Given the description of an element on the screen output the (x, y) to click on. 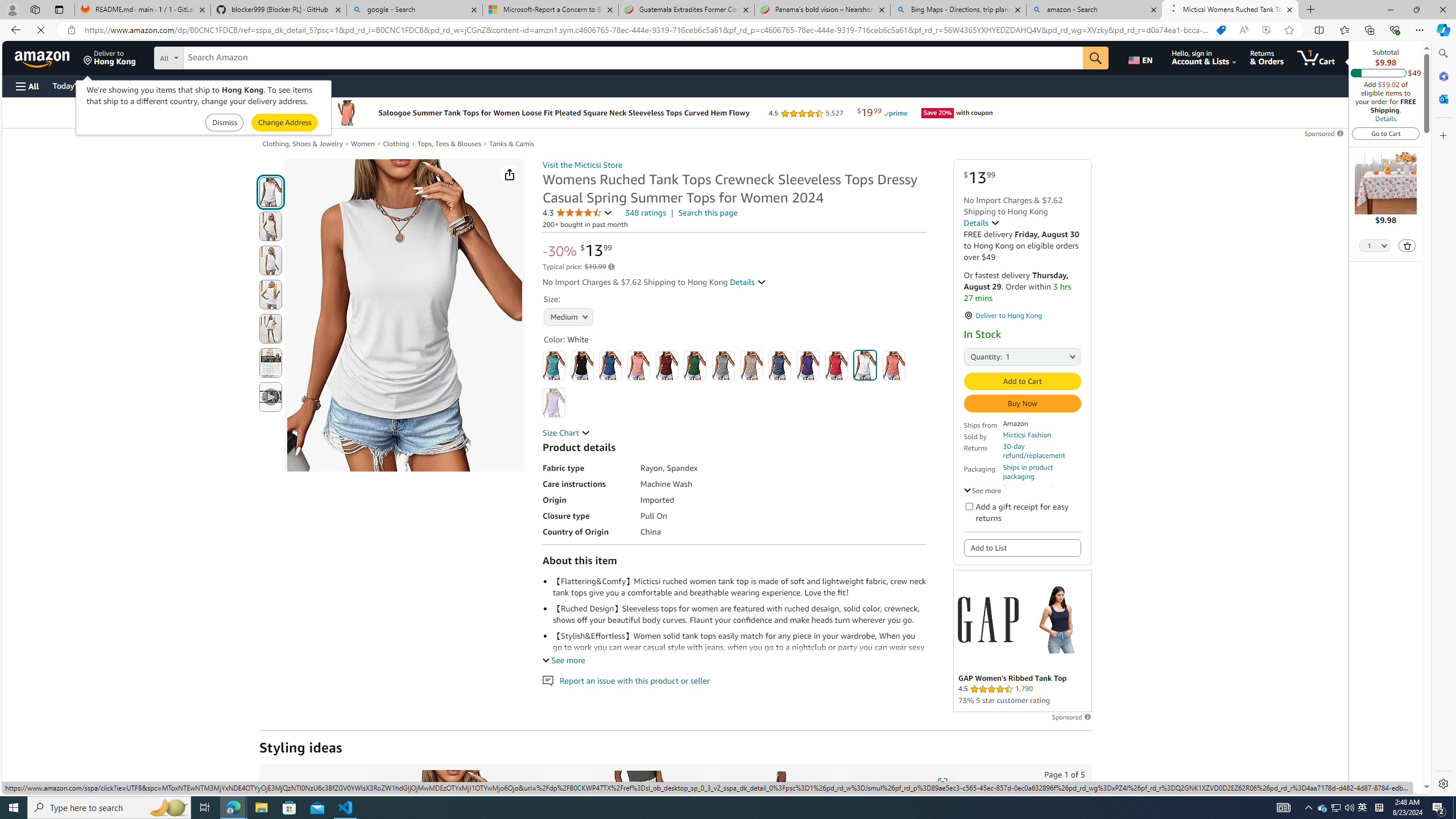
Quantity: (976, 355)
Delete (1407, 245)
Add to Cart (1021, 381)
Women (367, 144)
Enhance video (1266, 29)
Grey (723, 365)
Logo (987, 619)
Coral (638, 365)
Green (695, 365)
